Given the description of an element on the screen output the (x, y) to click on. 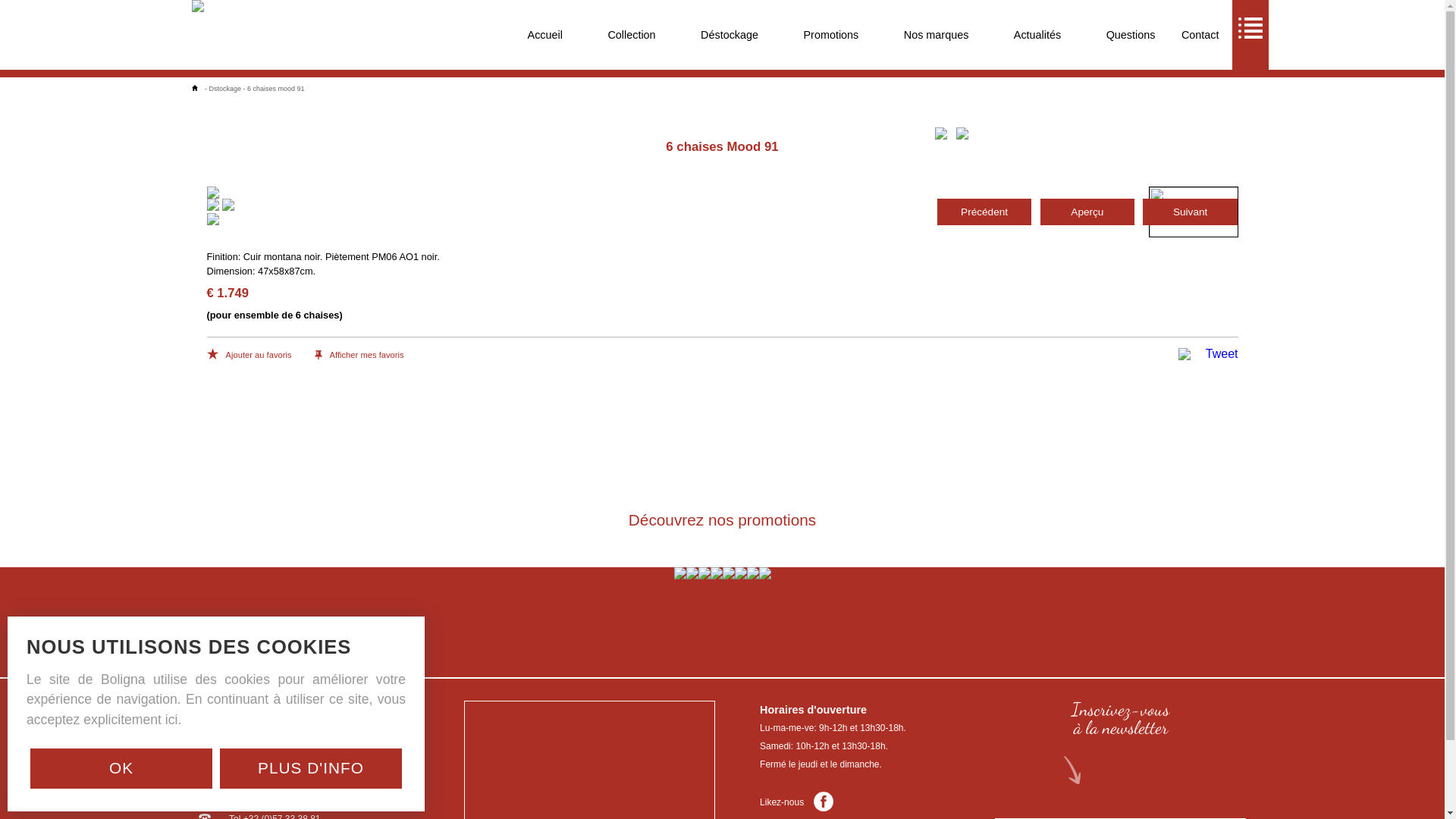
Afficher mes favoris Element type: text (359, 355)
Dstockage Element type: text (225, 88)
Questions Element type: text (1131, 34)
Suivant Element type: text (1189, 211)
Nos marques Element type: text (936, 34)
OK Element type: text (121, 768)
Likez-nous Element type: text (796, 802)
Ajouter au favoris Element type: text (248, 355)
PLUS D'INFO Element type: text (310, 768)
Collection Element type: text (631, 34)
Accueil Element type: text (545, 34)
Contact Element type: text (1200, 34)
6 chaises mood 91 Element type: text (275, 88)
Tweet Element type: text (1221, 354)
Promotions Element type: text (831, 34)
